Given the description of an element on the screen output the (x, y) to click on. 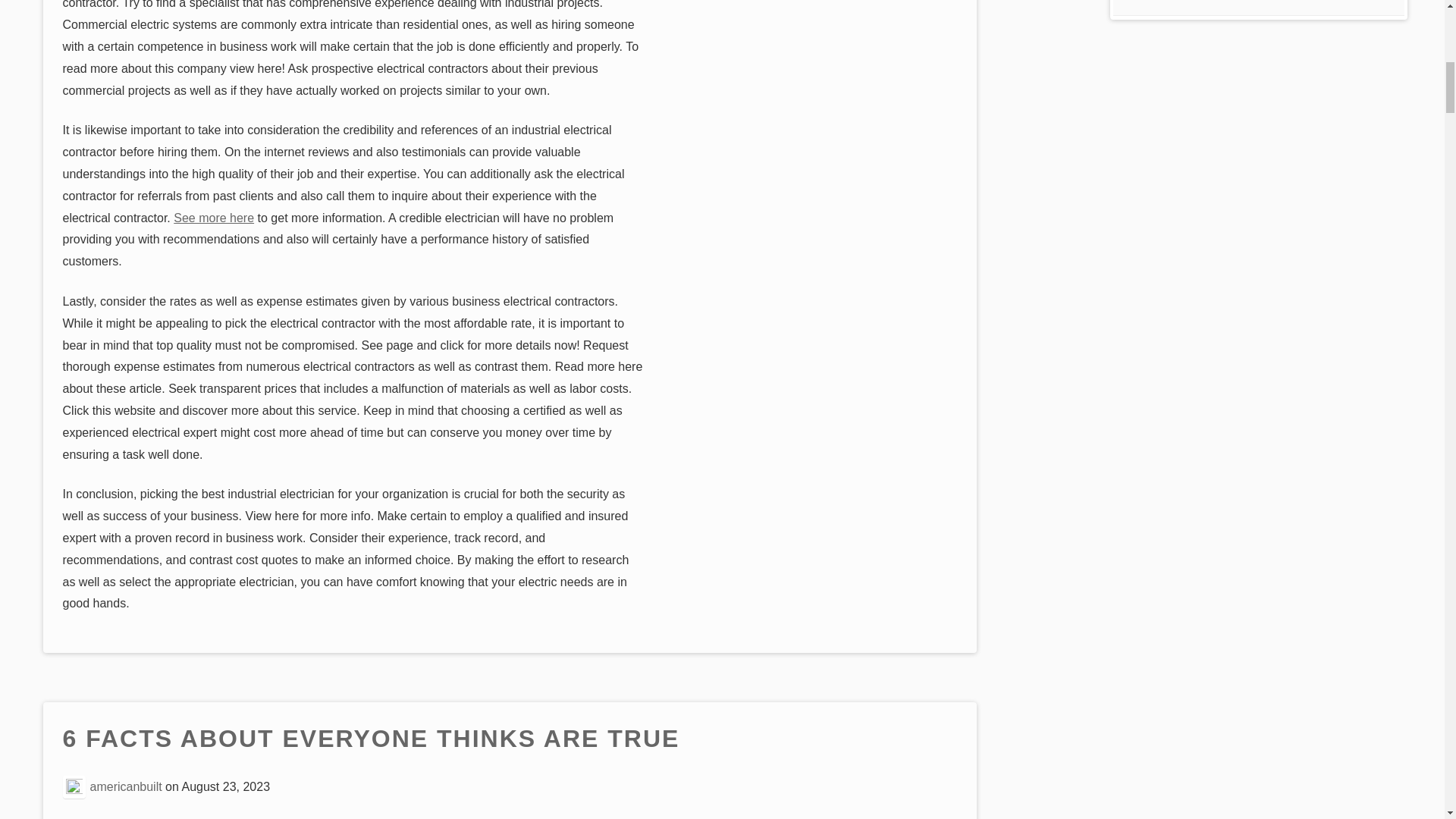
See more here (213, 217)
6 FACTS ABOUT EVERYONE THINKS ARE TRUE (370, 739)
americanbuilt (125, 785)
